Given the description of an element on the screen output the (x, y) to click on. 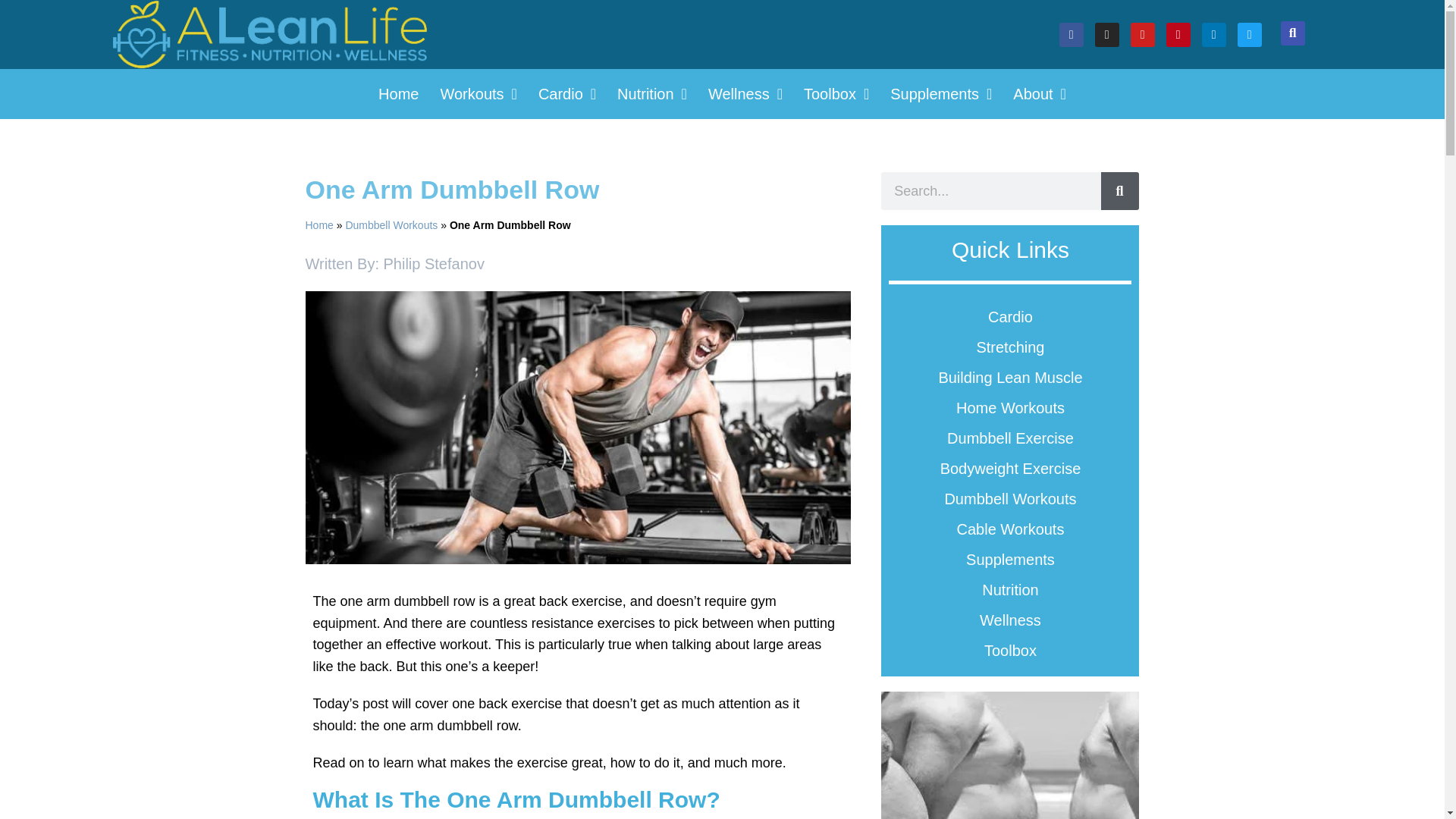
Home (398, 93)
Workouts (477, 93)
